Given the description of an element on the screen output the (x, y) to click on. 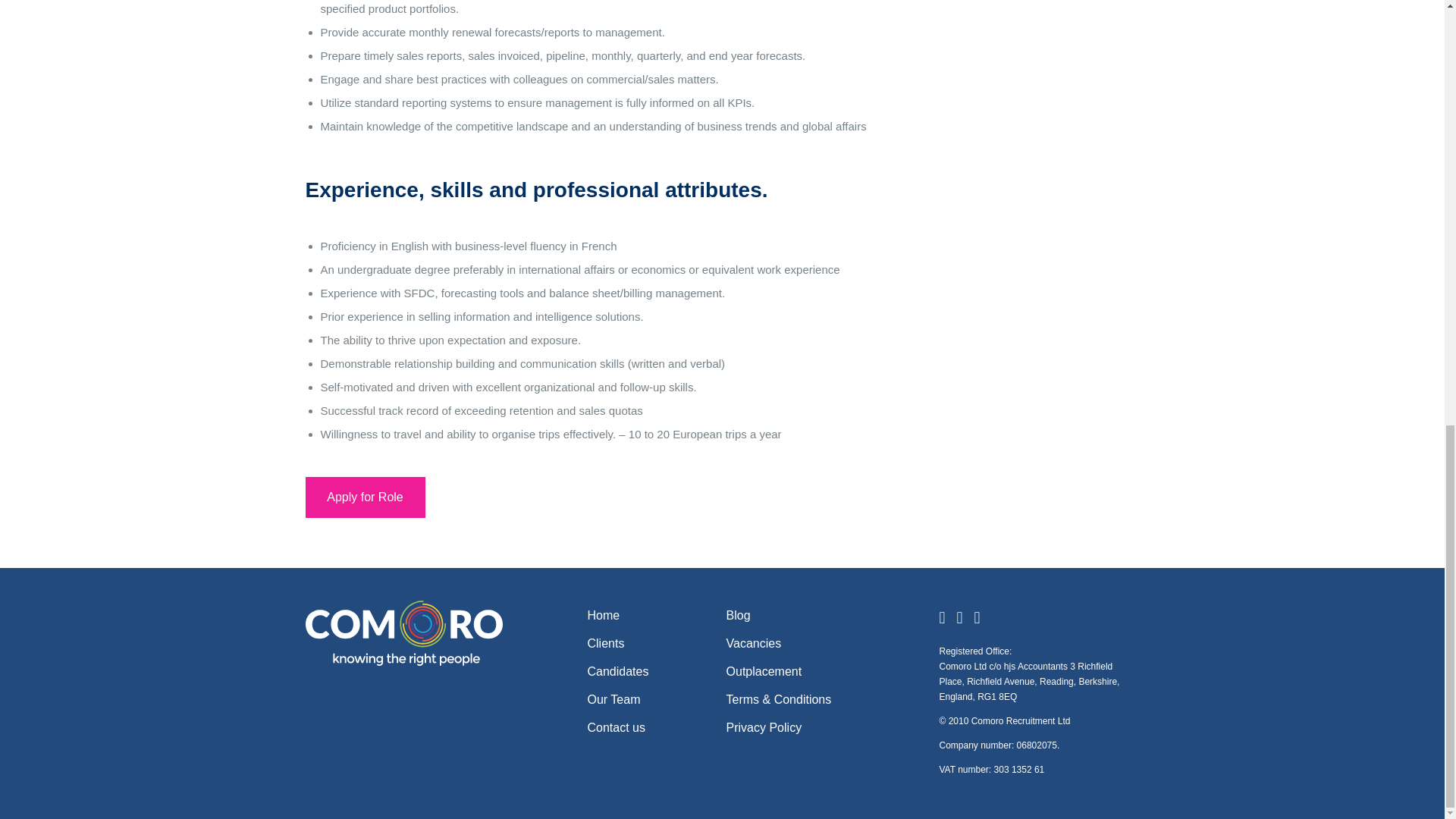
Privacy Policy (764, 727)
Home (603, 615)
Contact us (615, 727)
Apply for Role (364, 496)
Blog (738, 615)
Outplacement (764, 671)
Our Team (613, 698)
Vacancies (753, 643)
Candidates (616, 671)
Clients (605, 643)
